Given the description of an element on the screen output the (x, y) to click on. 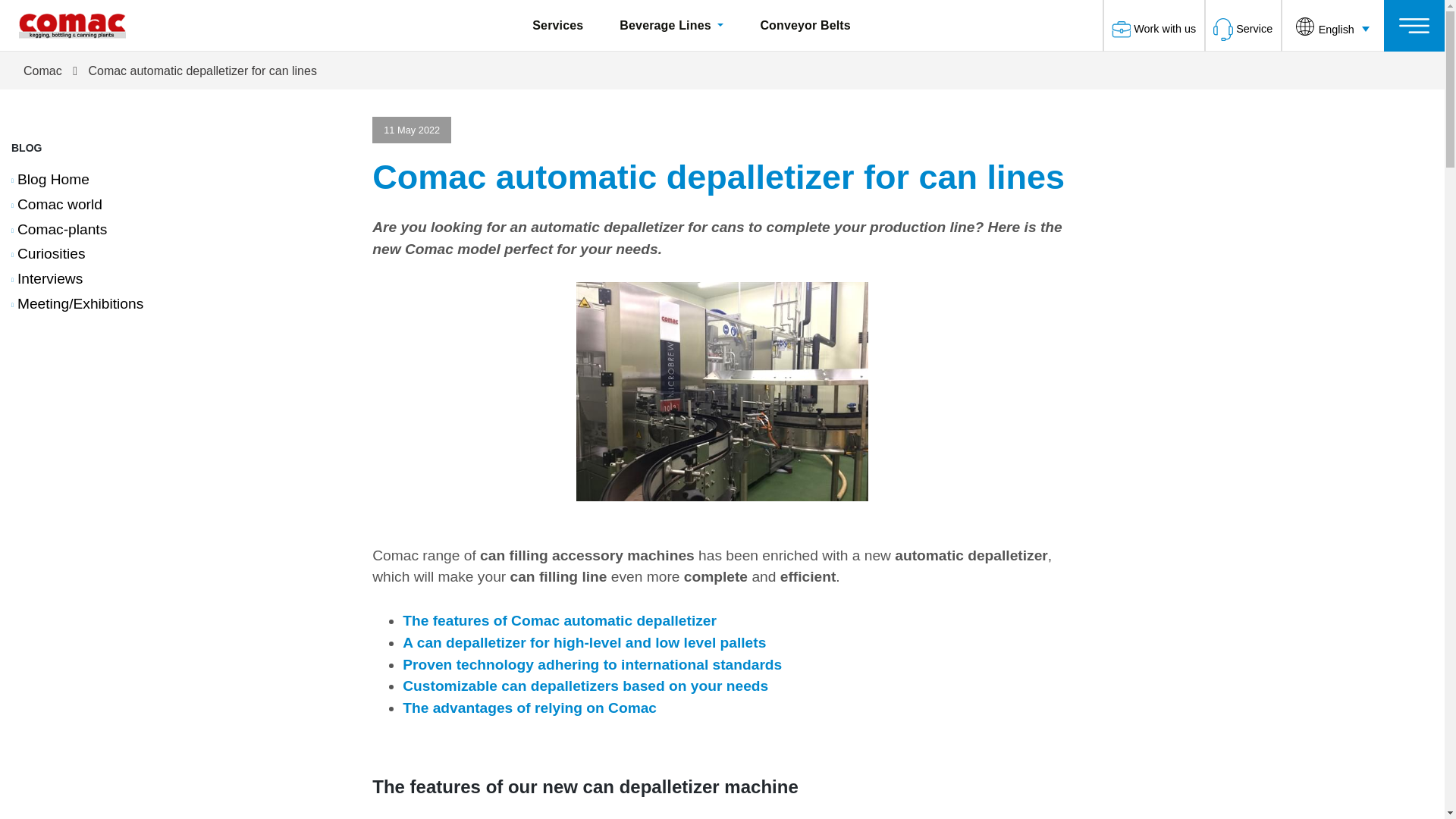
Can depalletizer (721, 391)
Services (557, 24)
English (1333, 24)
Work with us (1164, 28)
Conveyor Belts (805, 24)
Beverage Lines (671, 24)
Service (1254, 28)
